Given the description of an element on the screen output the (x, y) to click on. 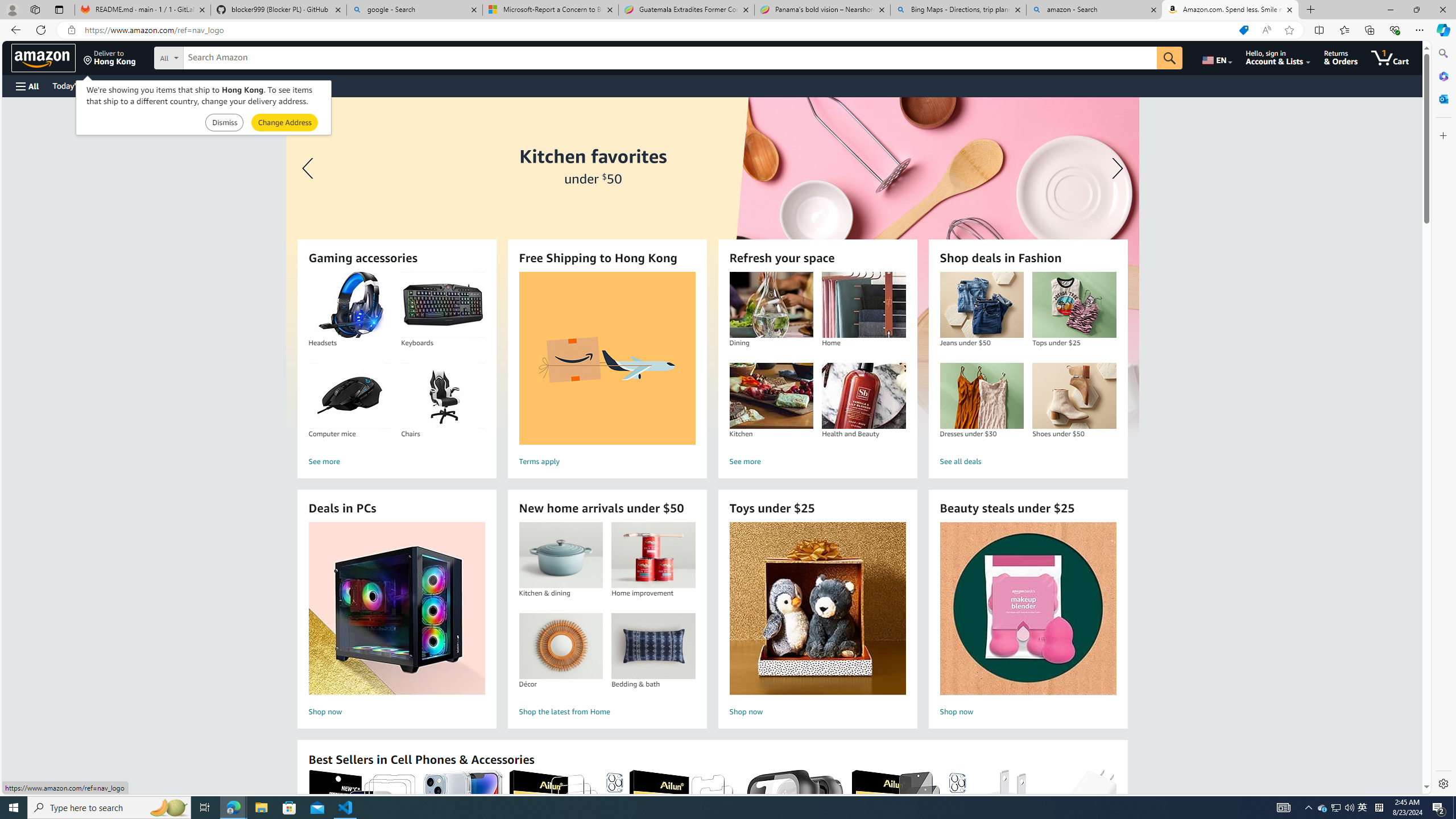
Free Shipping to Hong Kong (606, 357)
Shoes under $50 (1074, 395)
Computer mice (350, 395)
Dining (770, 304)
Kitchen & dining (560, 555)
amazon - Search (1094, 9)
Returns & Orders (1340, 57)
Address and search bar (658, 29)
View site information (70, 29)
Collections (1369, 29)
Jeans under $50 (981, 304)
Favorites (1344, 29)
